Given the description of an element on the screen output the (x, y) to click on. 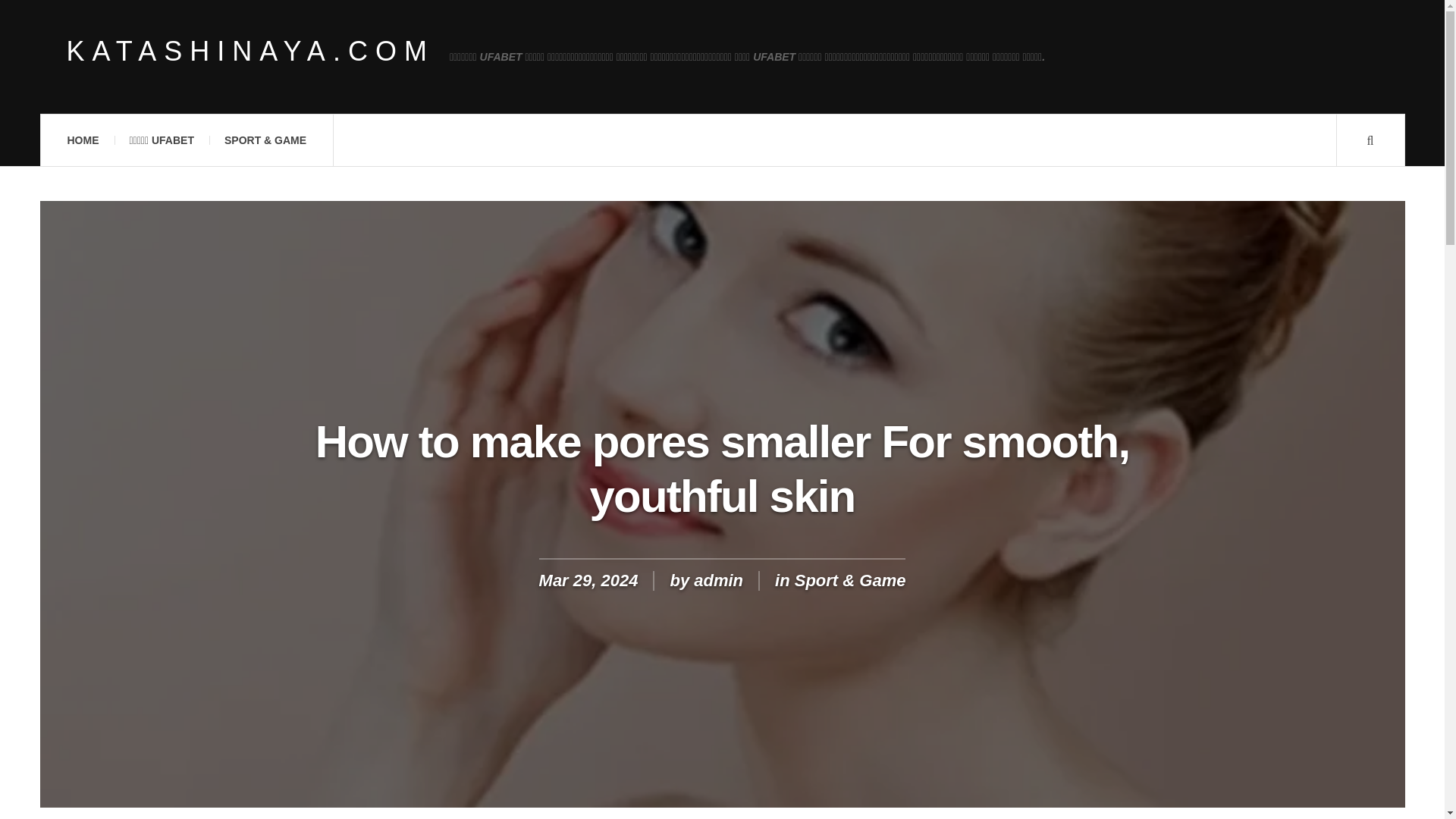
admin (718, 579)
HOME (81, 140)
KATASHINAYA.COM (249, 51)
katashinaya.com (249, 51)
